Given the description of an element on the screen output the (x, y) to click on. 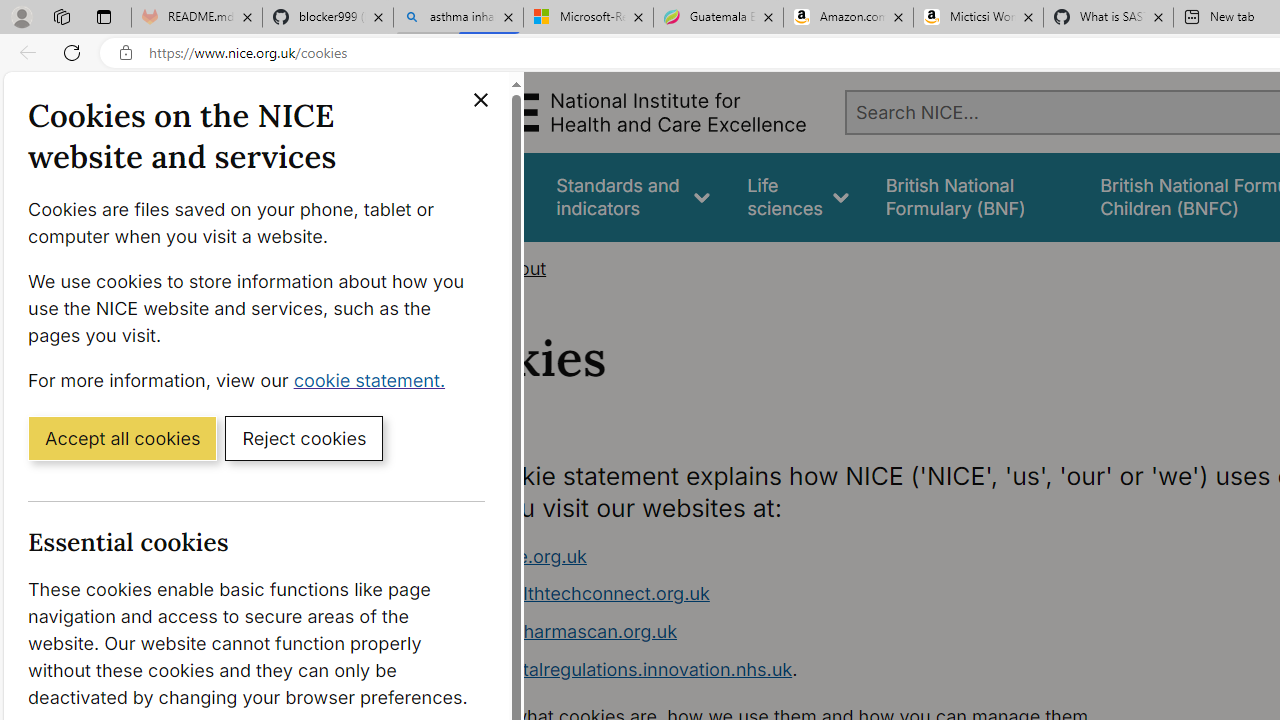
Life sciences (798, 196)
Guidance (479, 196)
www.nice.org.uk (514, 556)
Reject cookies (304, 437)
www.digitalregulations.innovation.nhs.uk. (818, 669)
Guidance (479, 196)
cookie statement. (Opens in a new window) (373, 379)
Accept all cookies (122, 437)
Life sciences (798, 196)
www.ukpharmascan.org.uk (818, 632)
asthma inhaler - Search (458, 17)
